Given the description of an element on the screen output the (x, y) to click on. 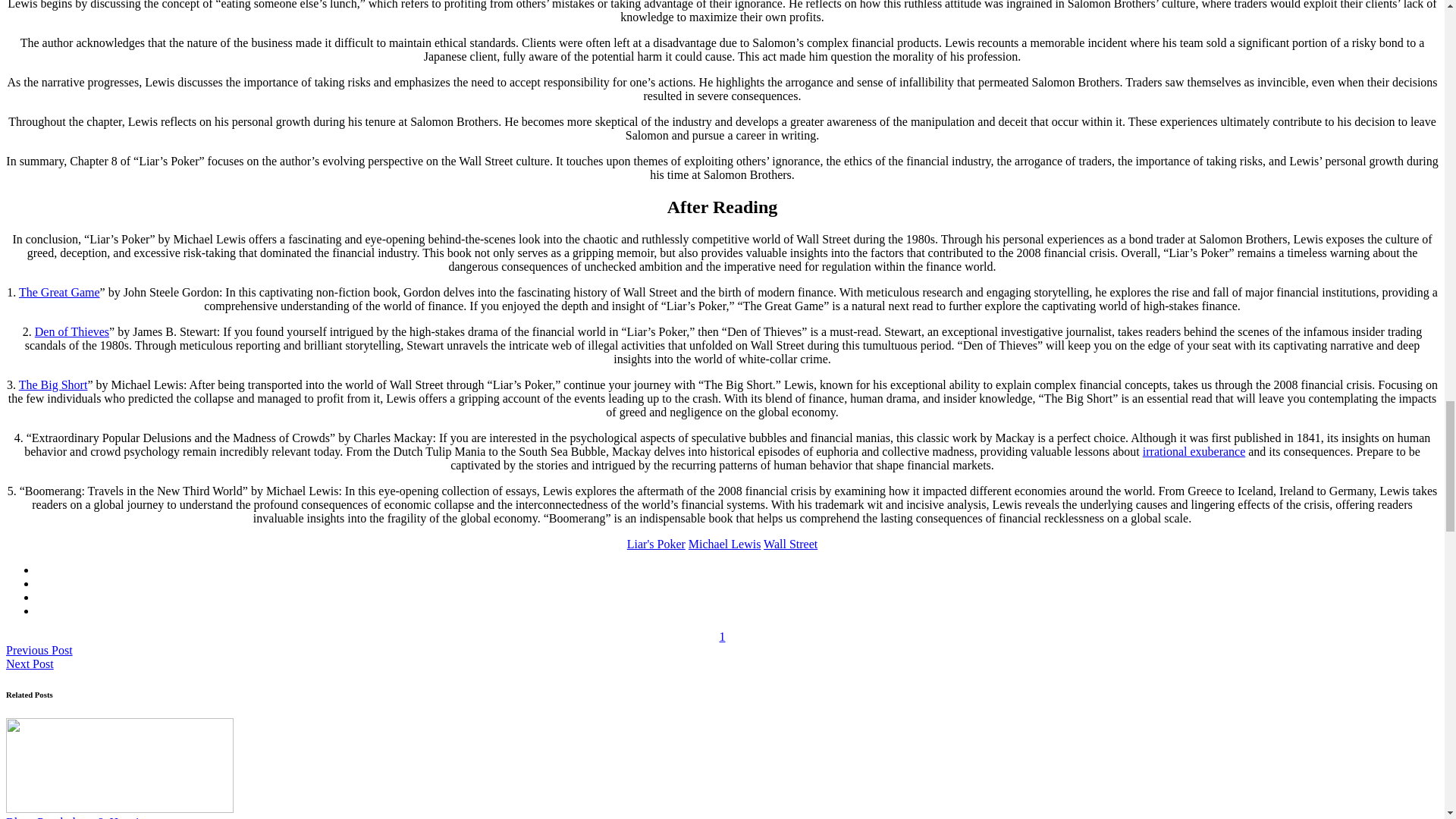
The Great Game (59, 291)
Den of Thieves (71, 331)
The Big Short (52, 384)
